Given the description of an element on the screen output the (x, y) to click on. 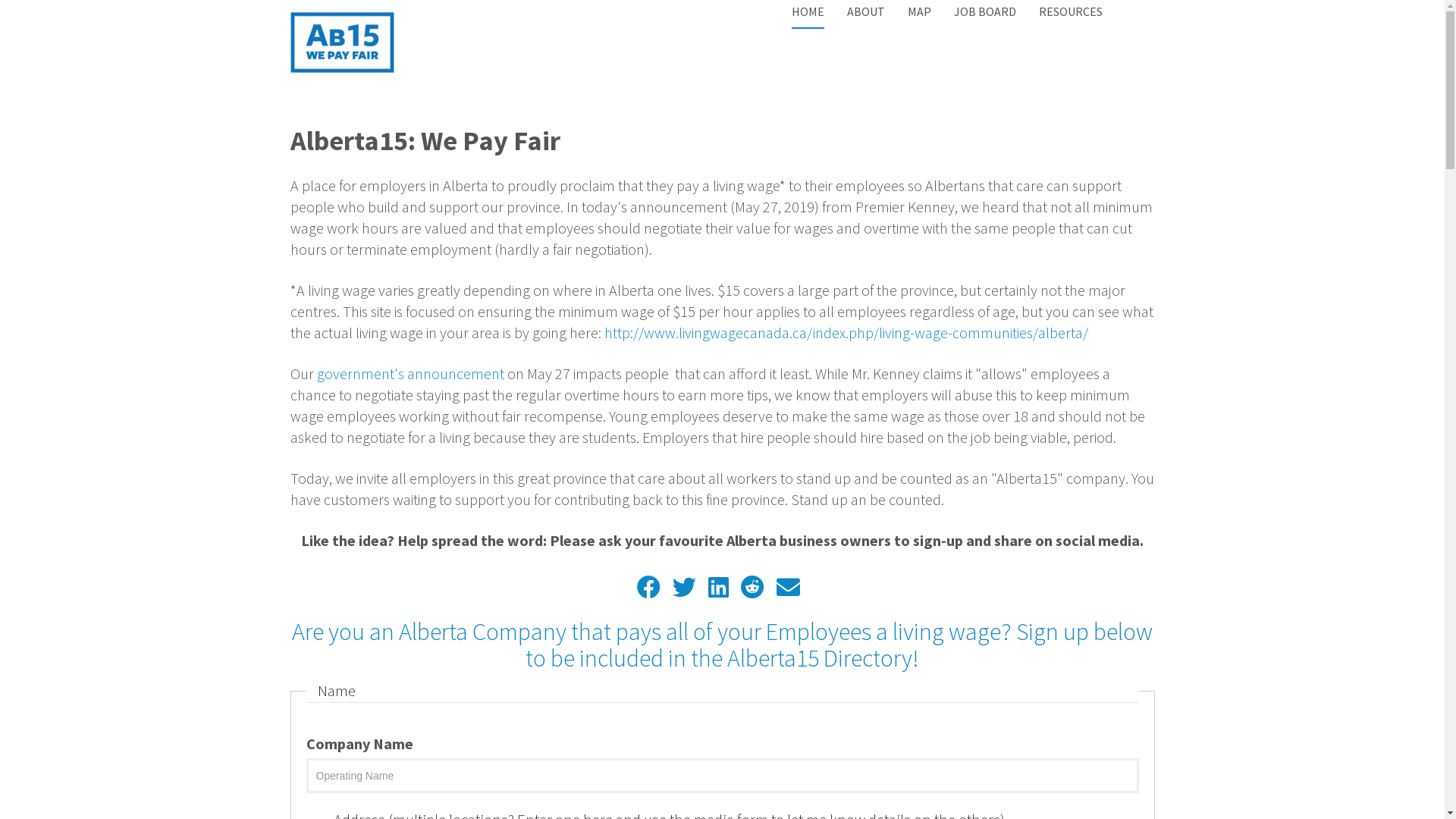
government's announcement Element type: text (410, 373)
Alberta 15 Home Element type: hover (341, 42)
MAP Element type: text (918, 11)
ABOUT Element type: text (865, 11)
Email Element type: hover (788, 587)
Reddit Element type: hover (752, 587)
Twitter Element type: hover (684, 587)
Facebook Element type: hover (648, 587)
LinkedIn Element type: hover (718, 587)
HOME Element type: text (807, 15)
RESOURCES Element type: text (1070, 11)
JOB BOARD Element type: text (984, 11)
